Given the description of an element on the screen output the (x, y) to click on. 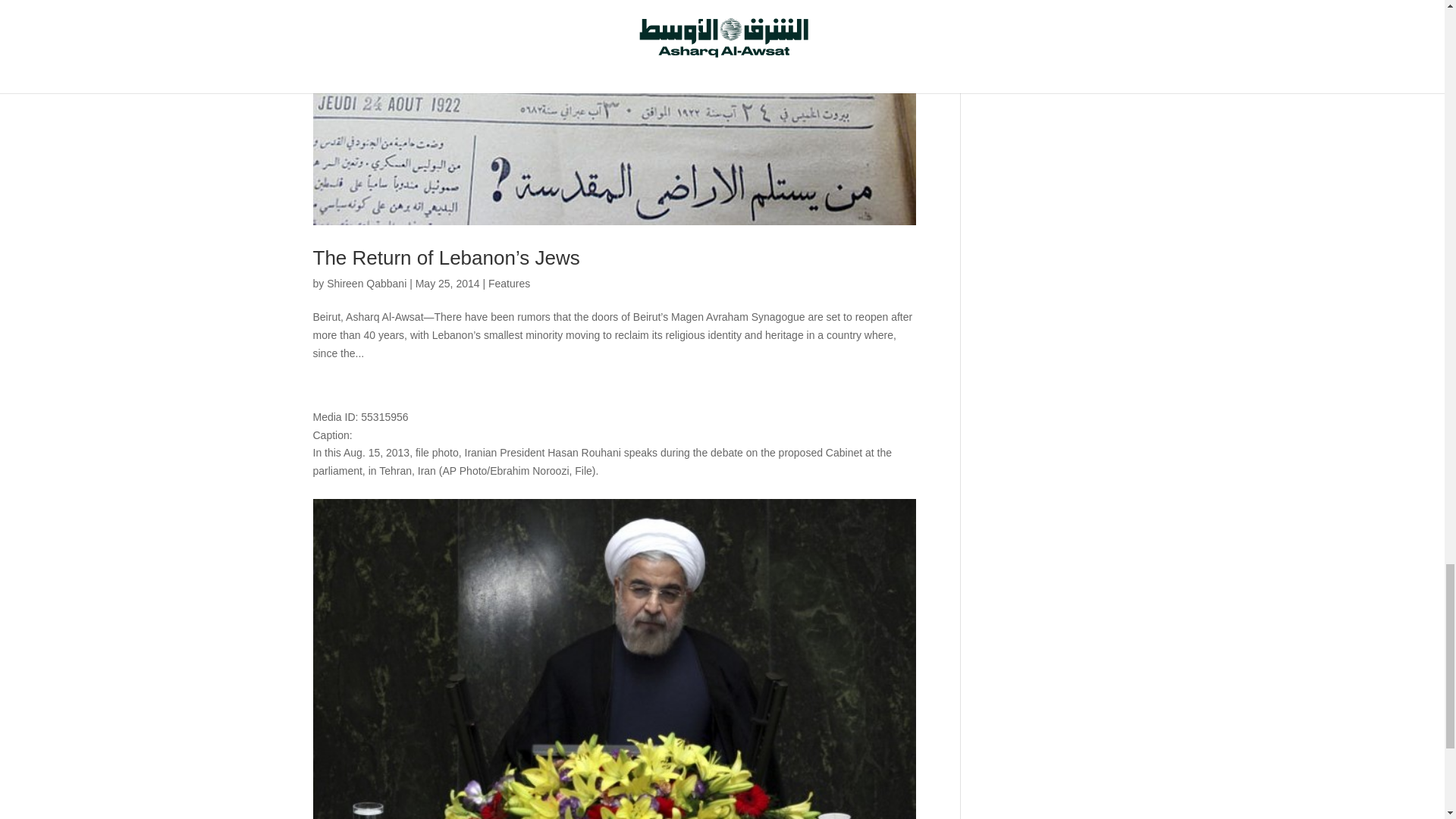
Shireen Qabbani (366, 283)
Features (508, 283)
Posts by Shireen Qabbani (366, 283)
